Given the description of an element on the screen output the (x, y) to click on. 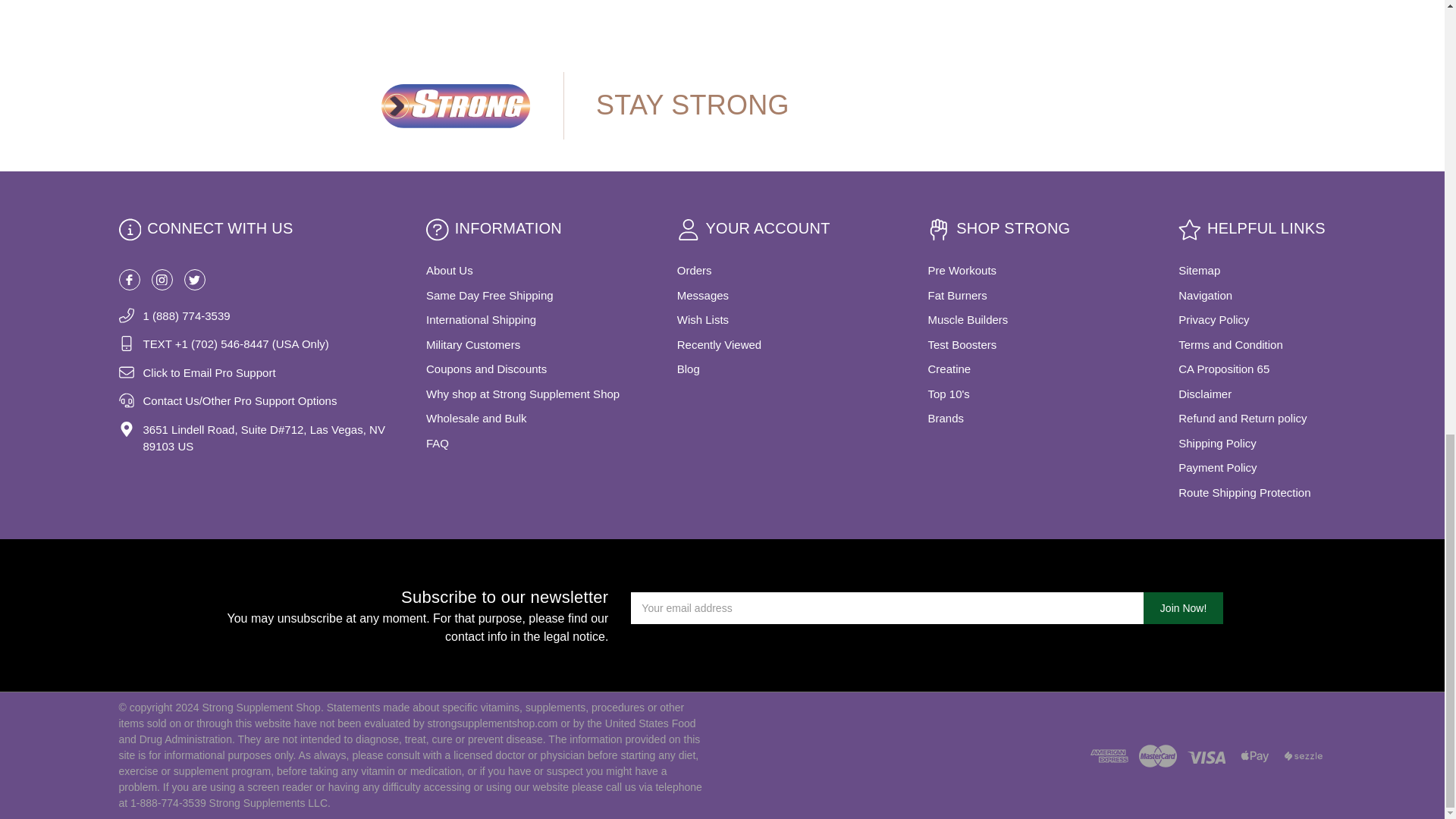
Strong Supplement Shop (455, 105)
Join Now! (1182, 608)
Instagram (162, 279)
Twitter (194, 279)
Facebook (128, 279)
